Given the description of an element on the screen output the (x, y) to click on. 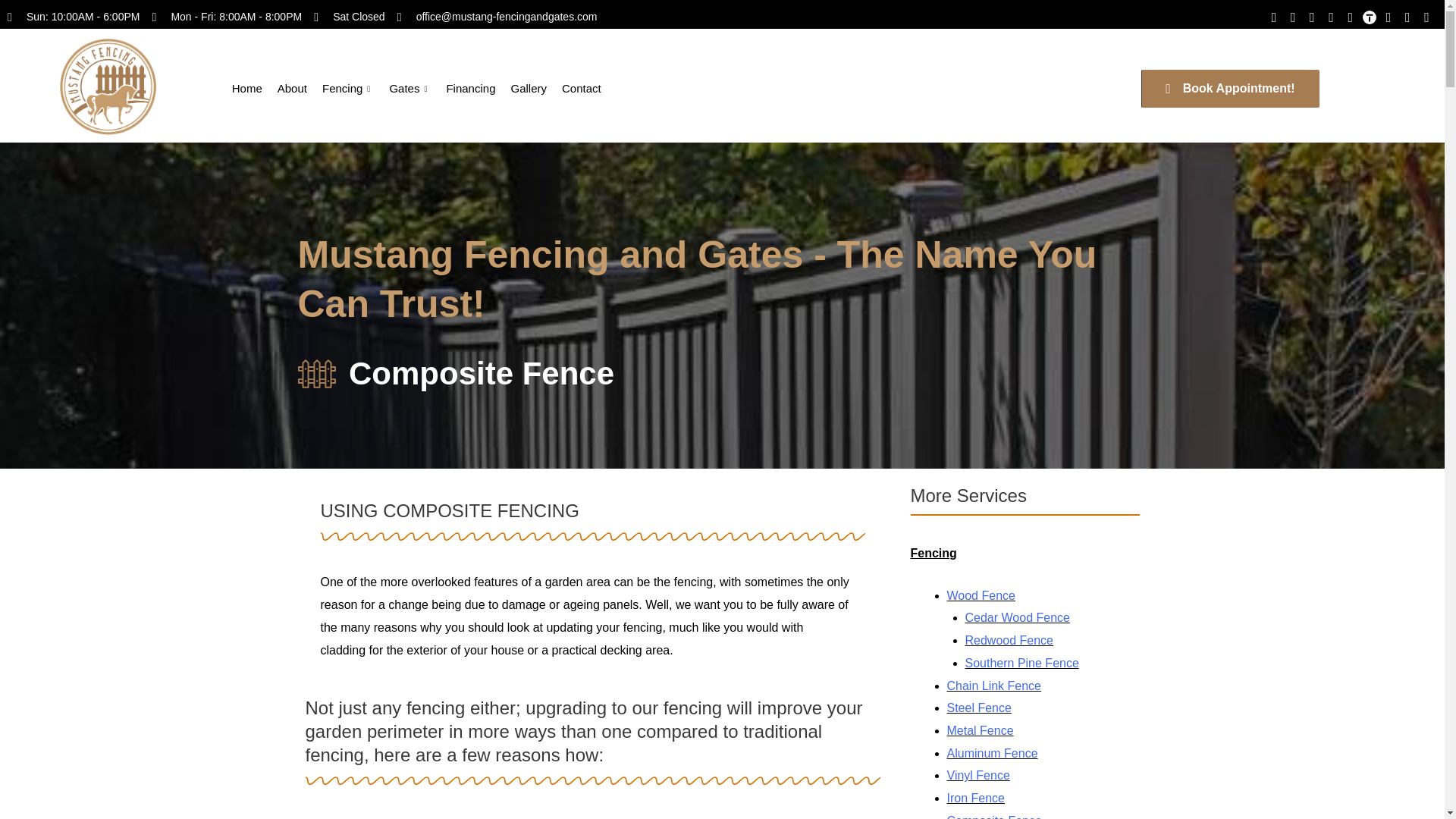
Instagram (1272, 16)
Icon-star-1 (1331, 16)
External-link-alt (1425, 16)
External-link-alt (1406, 16)
Gates (409, 88)
Fencing (347, 88)
Facebook (1293, 16)
Google (1312, 16)
Houzz (1387, 16)
Yelp (1349, 16)
